Given the description of an element on the screen output the (x, y) to click on. 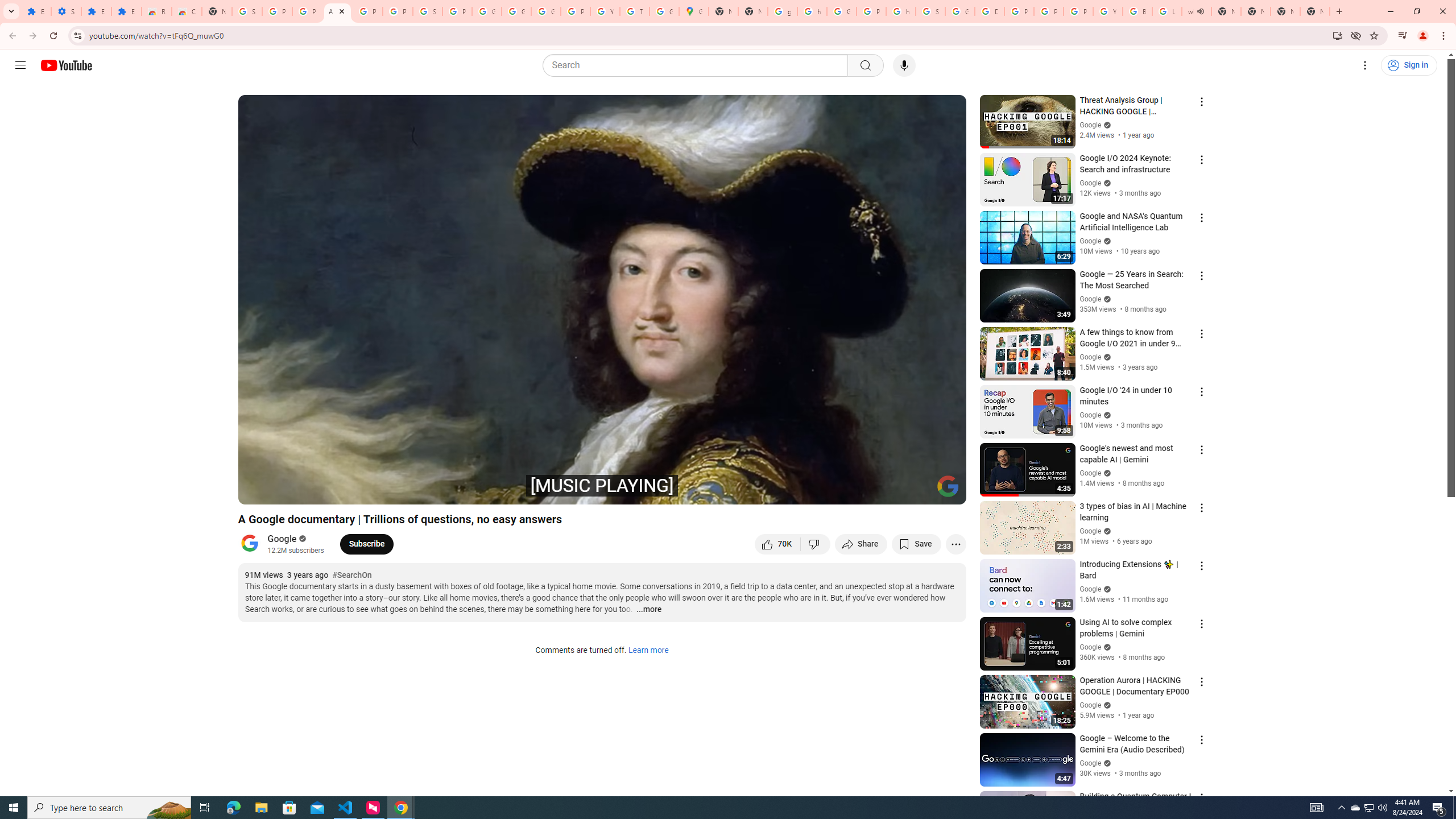
Google (282, 538)
Reviews: Helix Fruit Jump Arcade Game (156, 11)
Channel watermark (947, 486)
Save to playlist (915, 543)
Settings (65, 11)
